Given the description of an element on the screen output the (x, y) to click on. 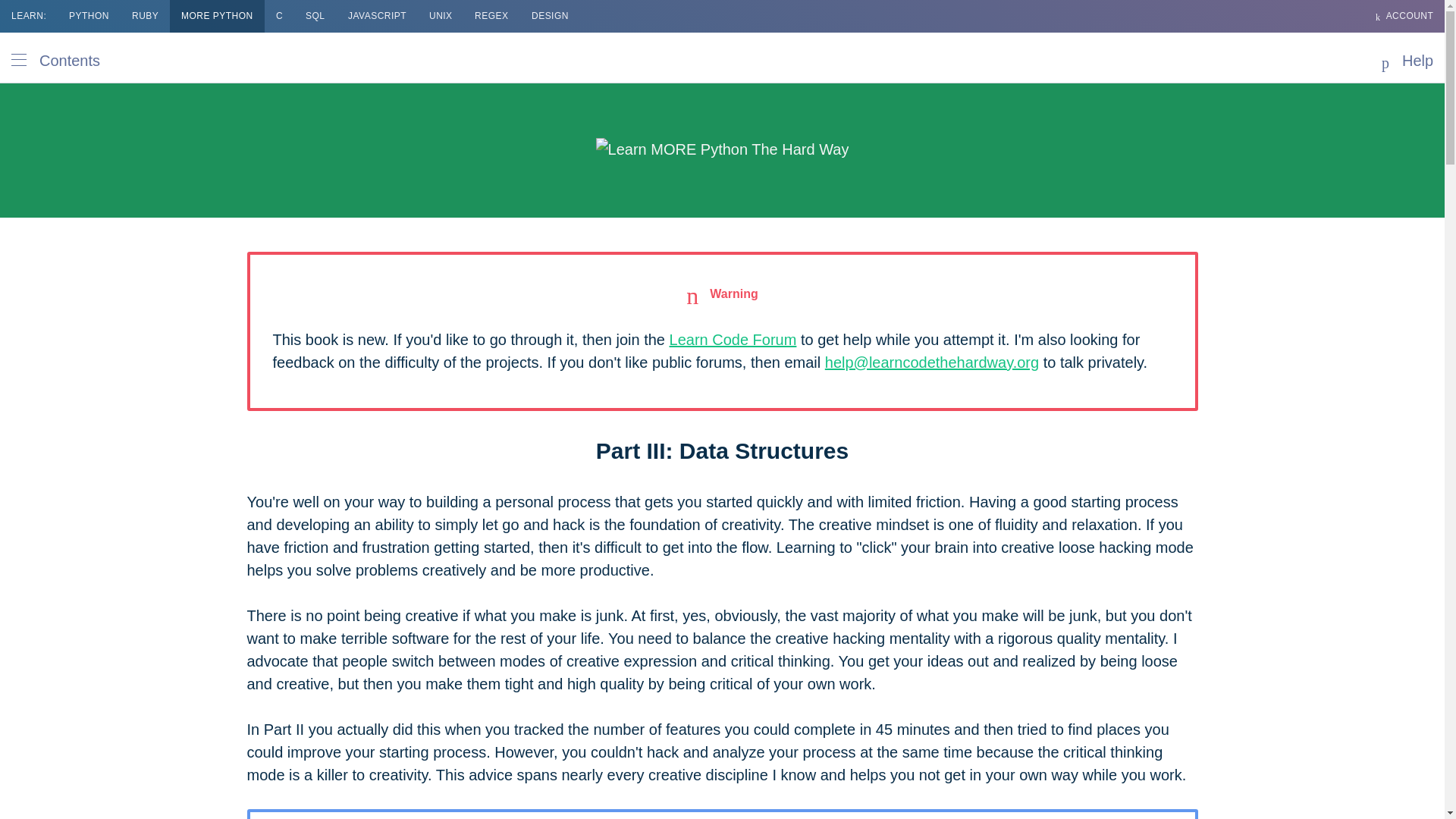
DESIGN (549, 16)
C (279, 16)
LEARN: (29, 16)
JAVASCRIPT (376, 16)
Contents (60, 57)
PYTHON (89, 16)
UNIX (440, 16)
REGEX (491, 16)
SQL (315, 16)
RUBY (145, 16)
